Given the description of an element on the screen output the (x, y) to click on. 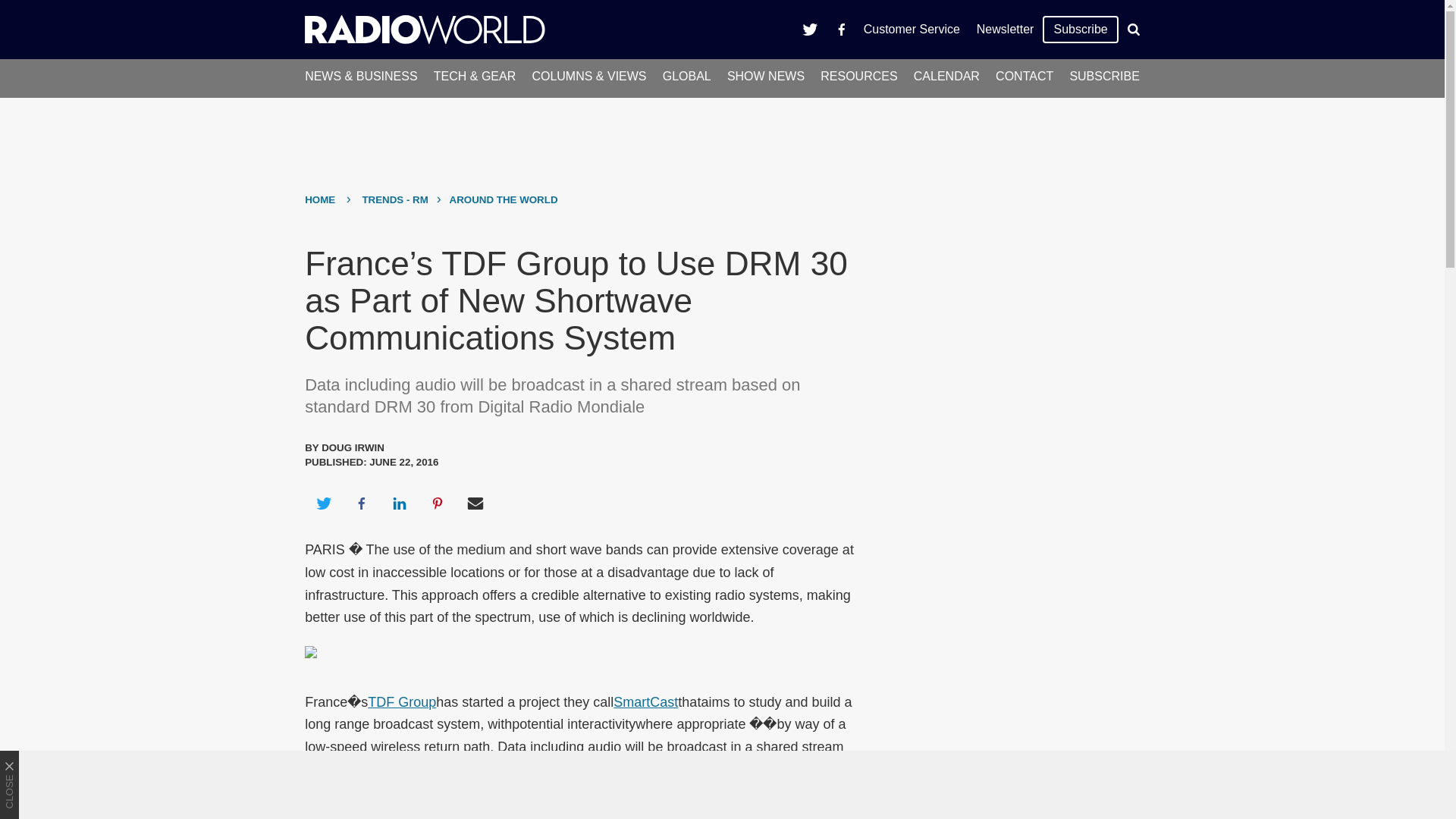
Share on LinkedIn (399, 503)
Share on Pinterest (438, 503)
Customer Service (912, 29)
Share via Email (476, 503)
Share on Facebook (361, 503)
Share on Twitter (323, 503)
